Given the description of an element on the screen output the (x, y) to click on. 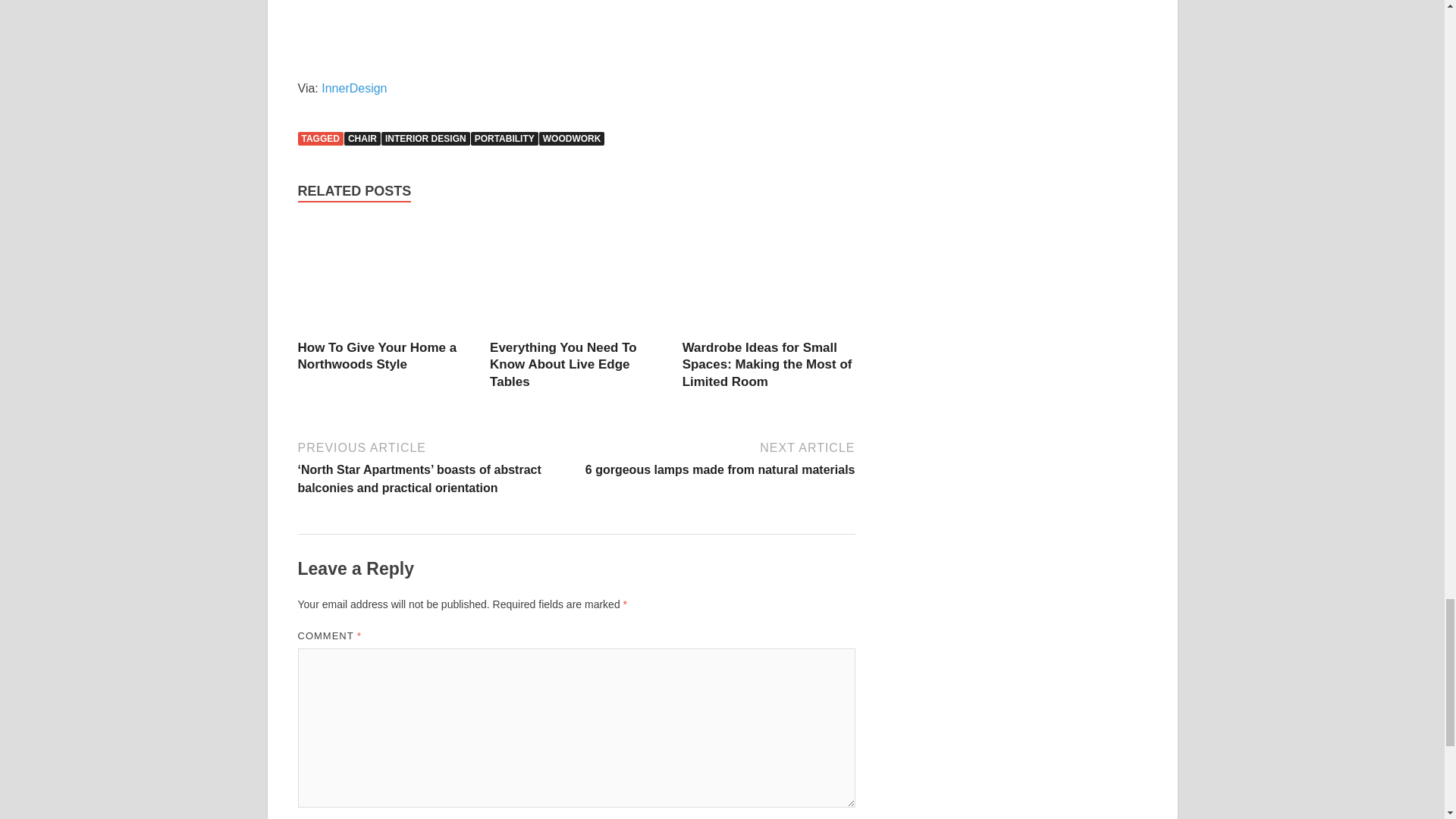
CHAIR (361, 138)
WOODWORK (571, 138)
INTERIOR DESIGN (425, 138)
Everything You Need To Know About Live Edge Tables (575, 278)
How To Give Your Home a Northwoods Style (383, 278)
Everything You Need To Know About Live Edge Tables (563, 364)
InnerDesign (354, 88)
PORTABILITY (504, 138)
How To Give Your Home a Northwoods Style (377, 355)
